Given the description of an element on the screen output the (x, y) to click on. 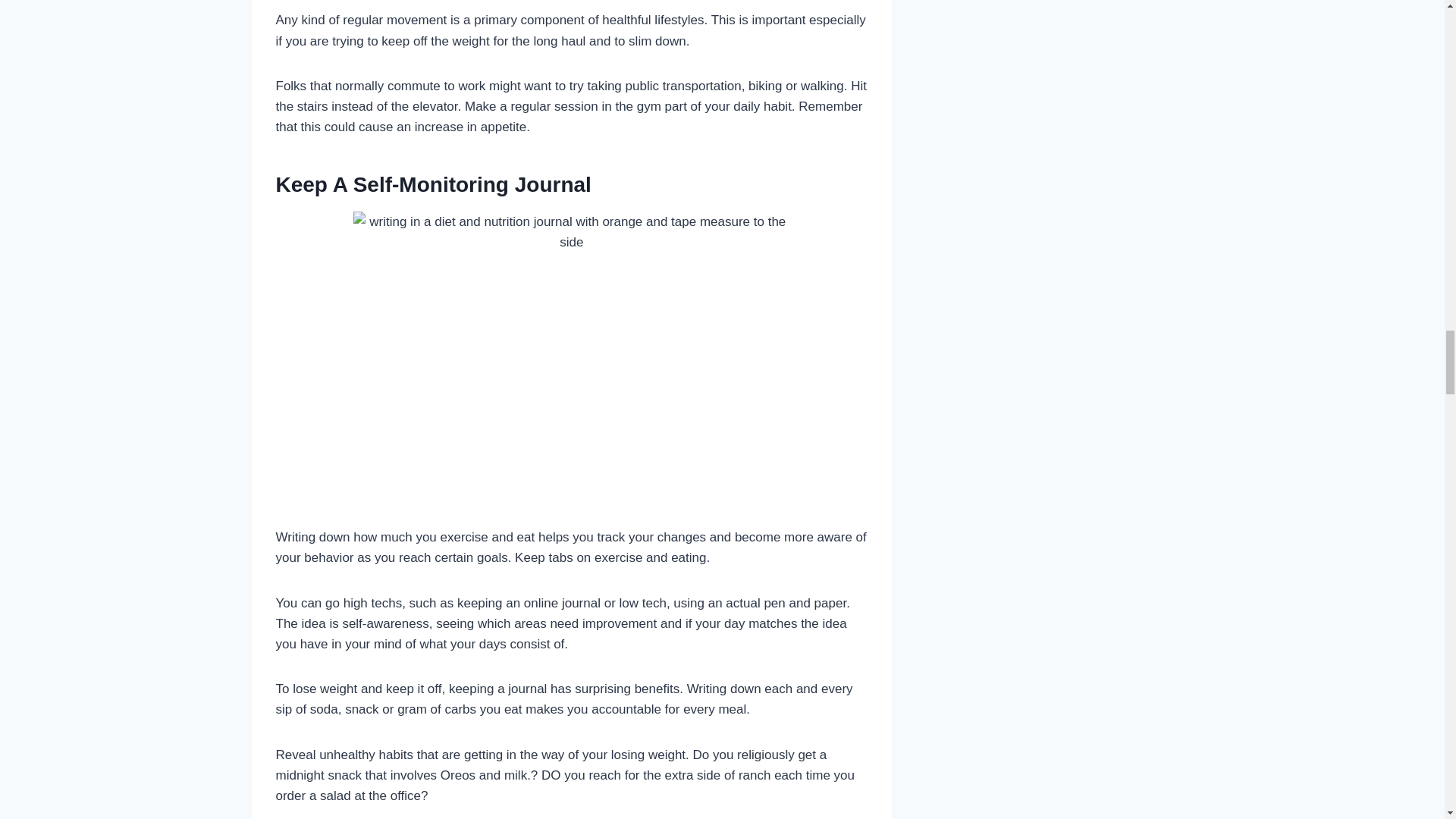
Why Is it Hard To Maintain Weight Loss? 4 (571, 356)
